Given the description of an element on the screen output the (x, y) to click on. 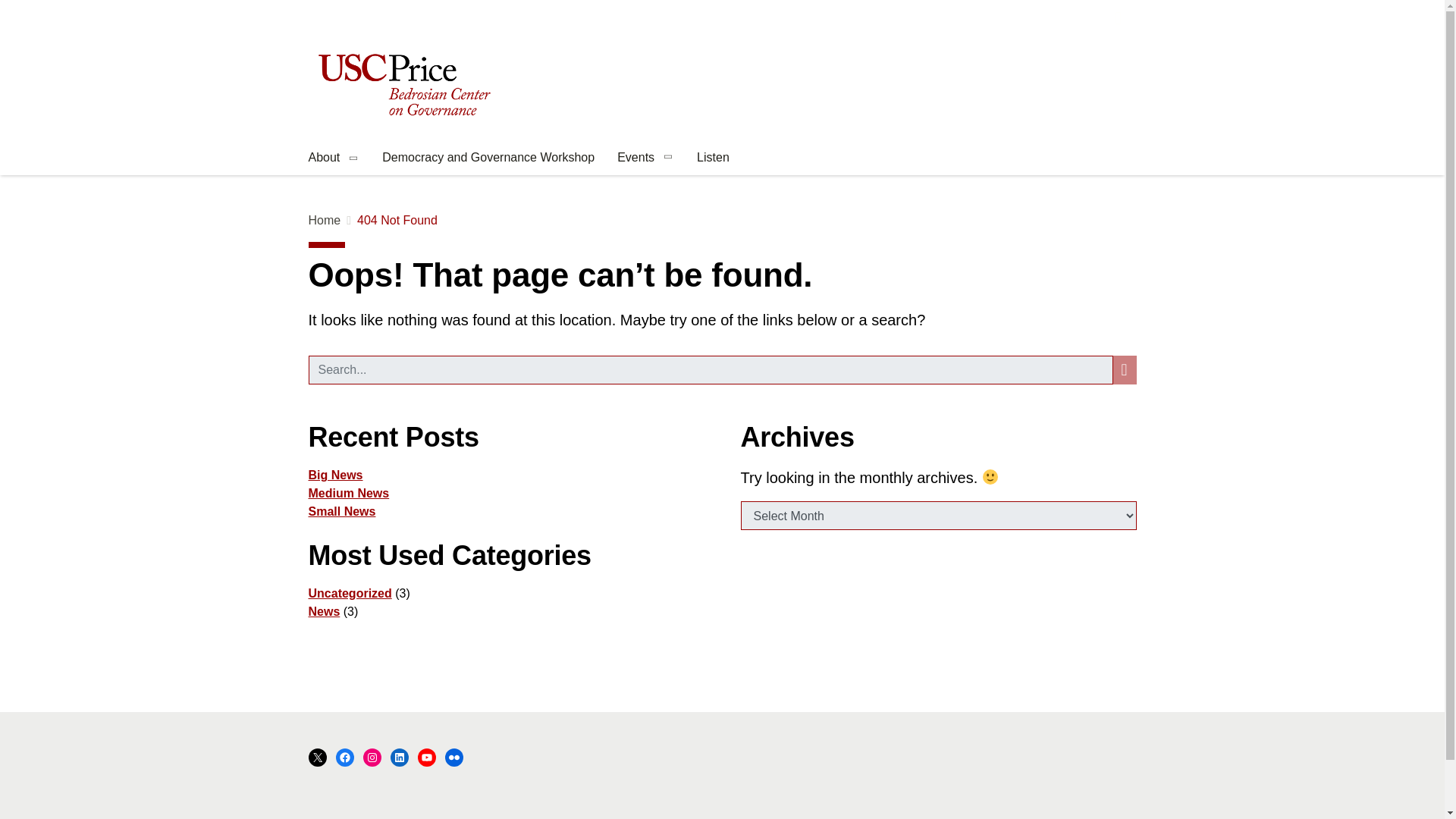
About (333, 159)
Small News (341, 511)
Listen (712, 159)
YouTube (425, 757)
About (333, 159)
Events (645, 159)
Flickr (453, 757)
Democracy and Governance Workshop (487, 159)
Events (645, 159)
Big News (334, 474)
